Given the description of an element on the screen output the (x, y) to click on. 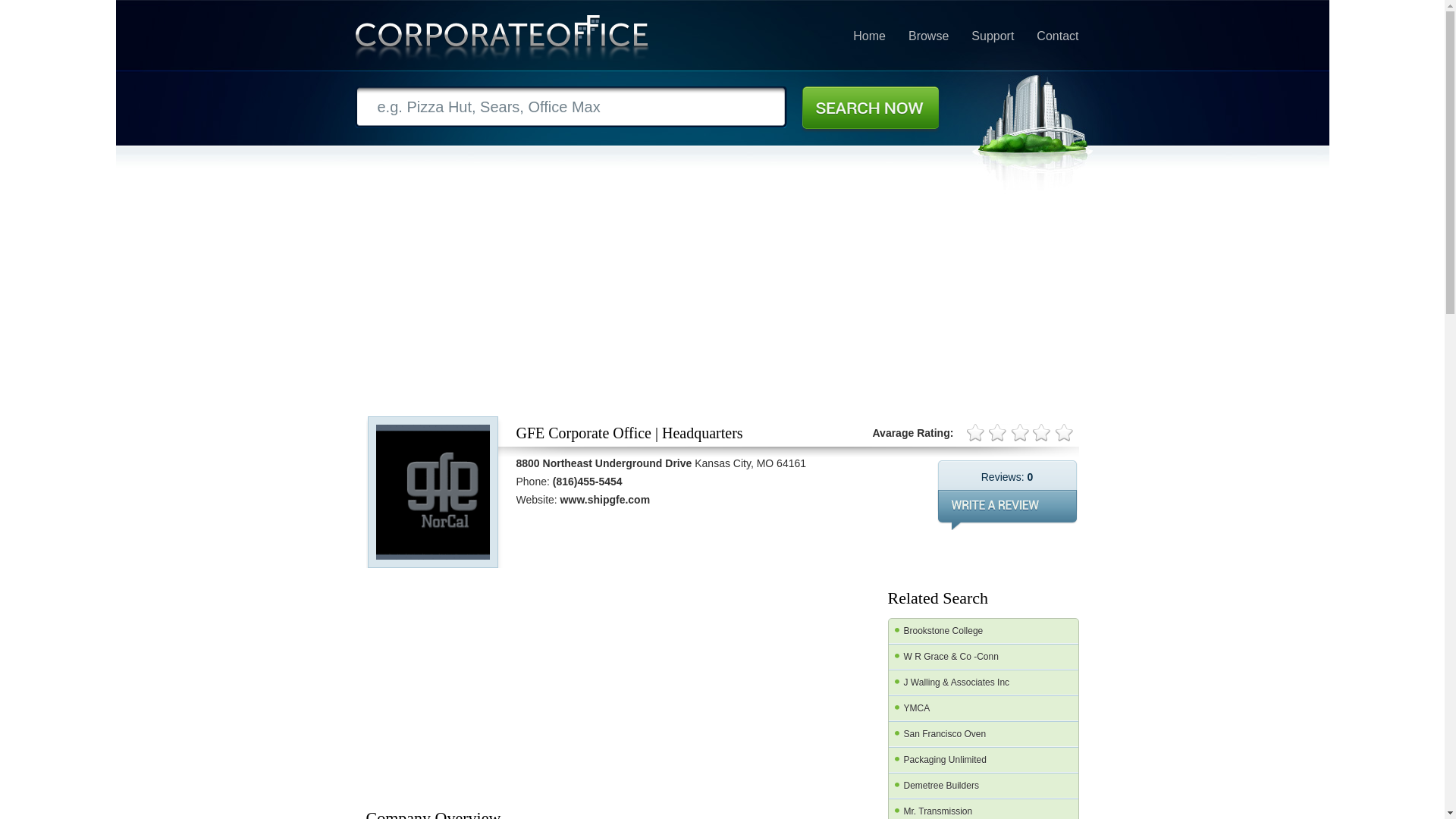
Demetree Builders (983, 785)
Advertisement (724, 685)
Mr. Transmission (983, 809)
Brookstone College (983, 631)
Corporate Office (502, 40)
WRITE REVIEW (1007, 509)
Packaging Unlimited (983, 760)
YMCA (983, 708)
Home (868, 36)
Advertisement (478, 685)
San Francisco Oven (983, 733)
Browse (927, 36)
Support (992, 36)
e.g. Pizza Hut, Sears, Office Max (571, 106)
